Given the description of an element on the screen output the (x, y) to click on. 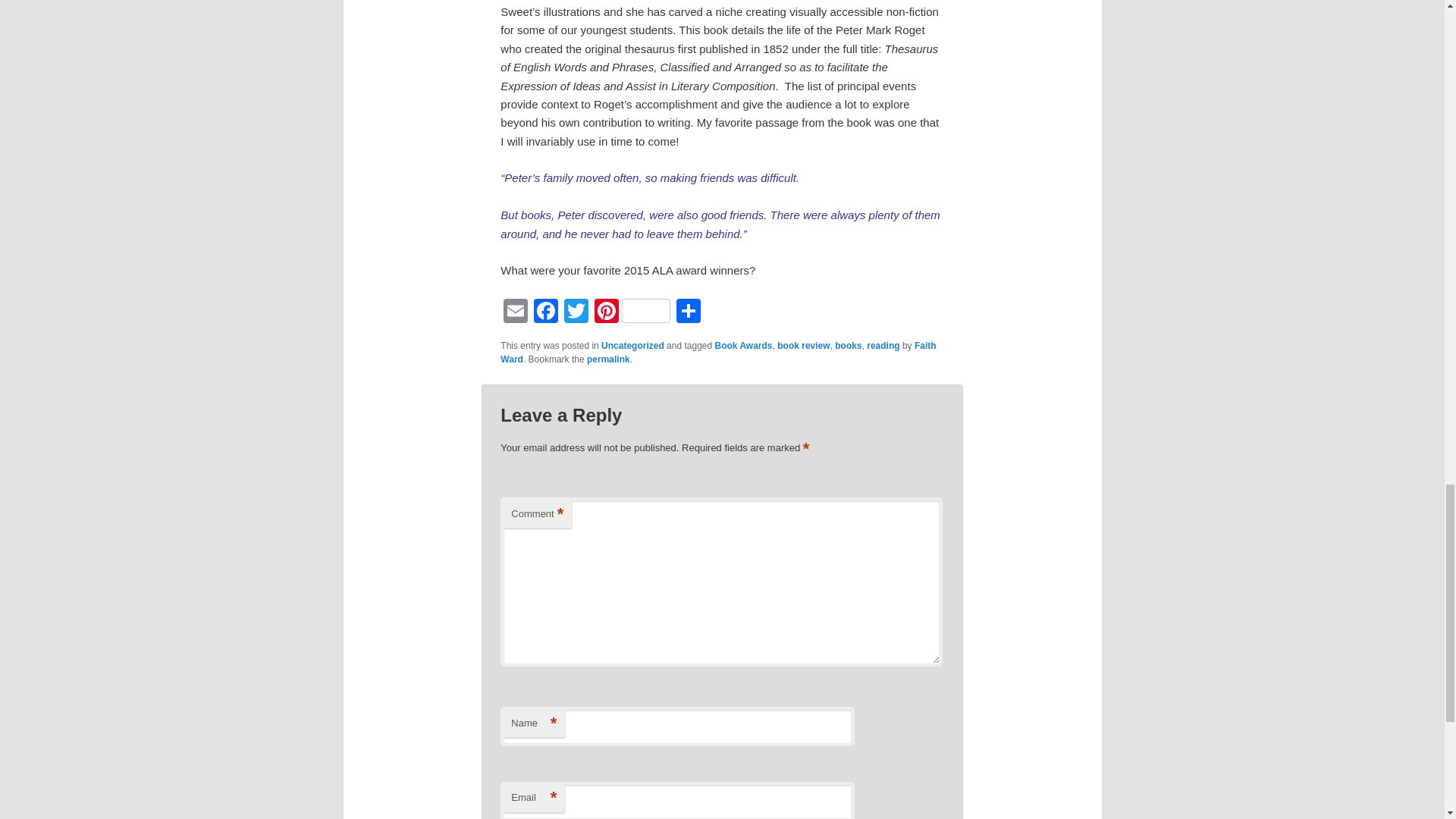
Book Awards (743, 345)
Share (687, 312)
books (847, 345)
Pinterest (631, 312)
Faith Ward (718, 352)
Facebook (545, 312)
Email (515, 312)
Email (515, 312)
permalink (608, 358)
reading (882, 345)
Facebook (545, 312)
Uncategorized (632, 345)
book review (803, 345)
Twitter (575, 312)
Pinterest (631, 312)
